Given the description of an element on the screen output the (x, y) to click on. 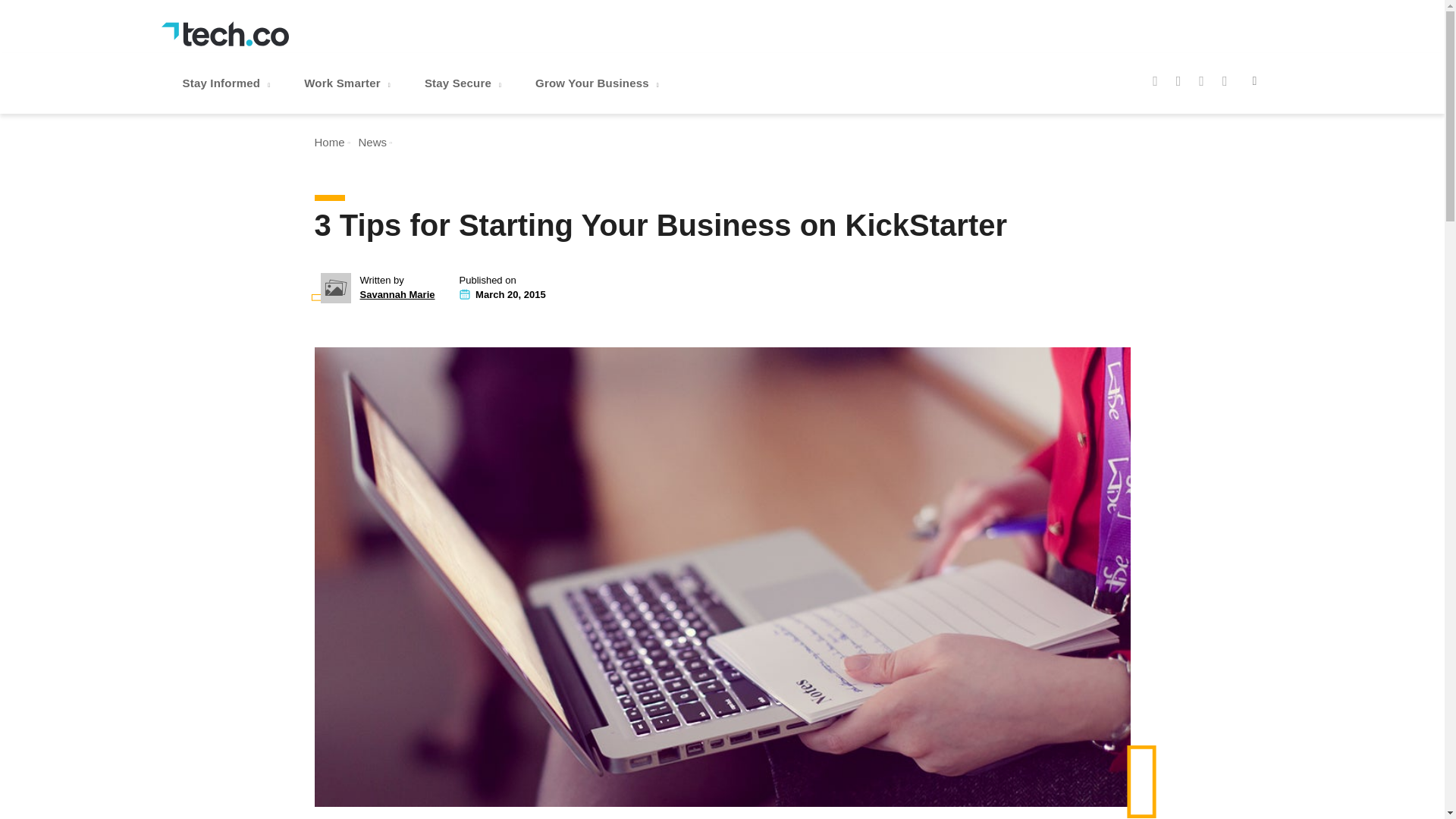
Work Smarter (348, 83)
Grow Your Business (598, 83)
instagram (1201, 80)
Stay Informed (227, 83)
twitter-x (1178, 80)
Stay Secure (464, 83)
facebook (1155, 80)
linkedin (1225, 80)
